Given the description of an element on the screen output the (x, y) to click on. 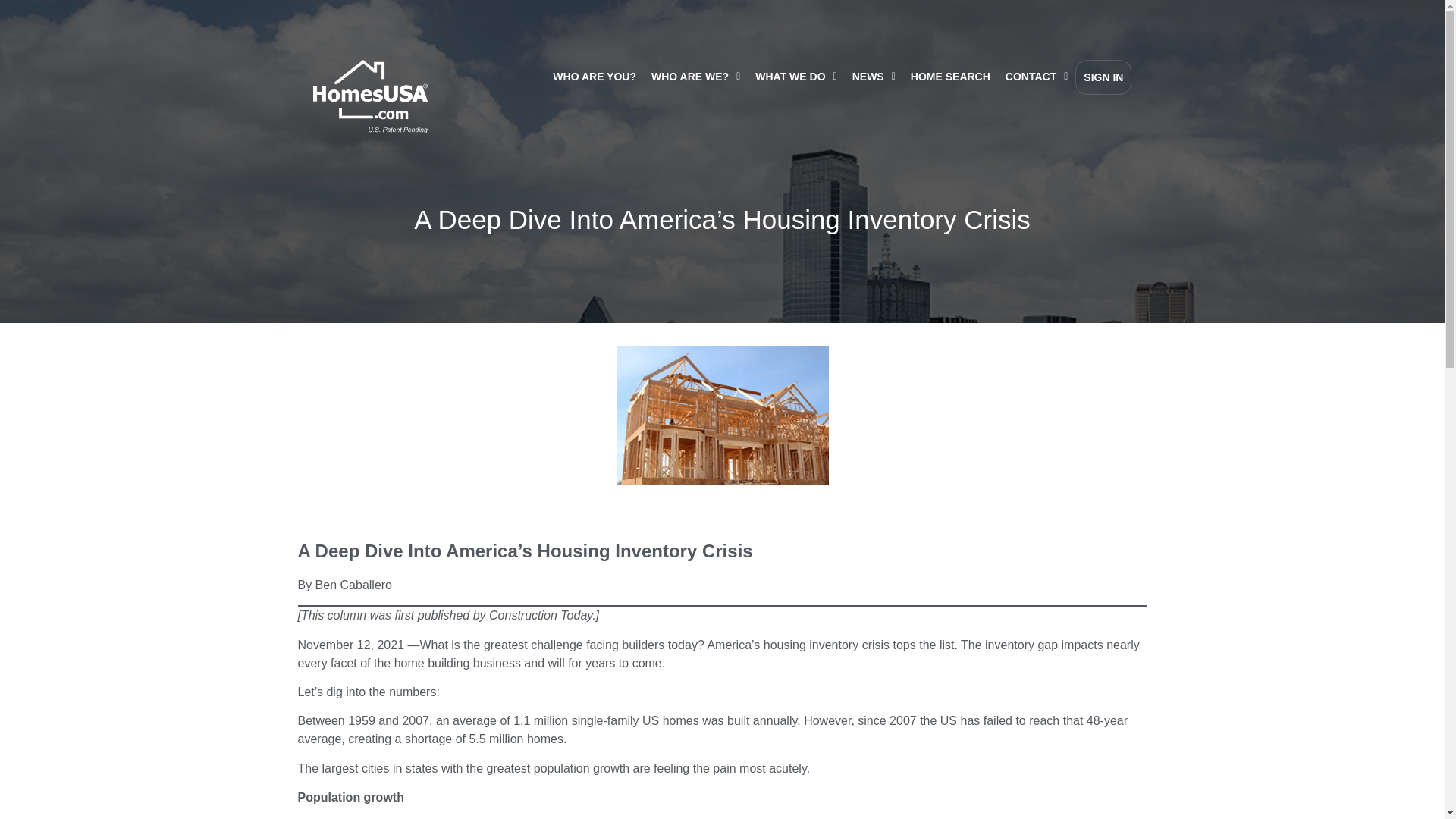
CONTACT (1036, 76)
WHAT WE DO (796, 76)
SIGN IN (1103, 77)
HOME SEARCH (949, 76)
WHO ARE WE? (695, 76)
NEWS (873, 76)
WHO ARE YOU? (593, 76)
Construction Today (540, 615)
